Given the description of an element on the screen output the (x, y) to click on. 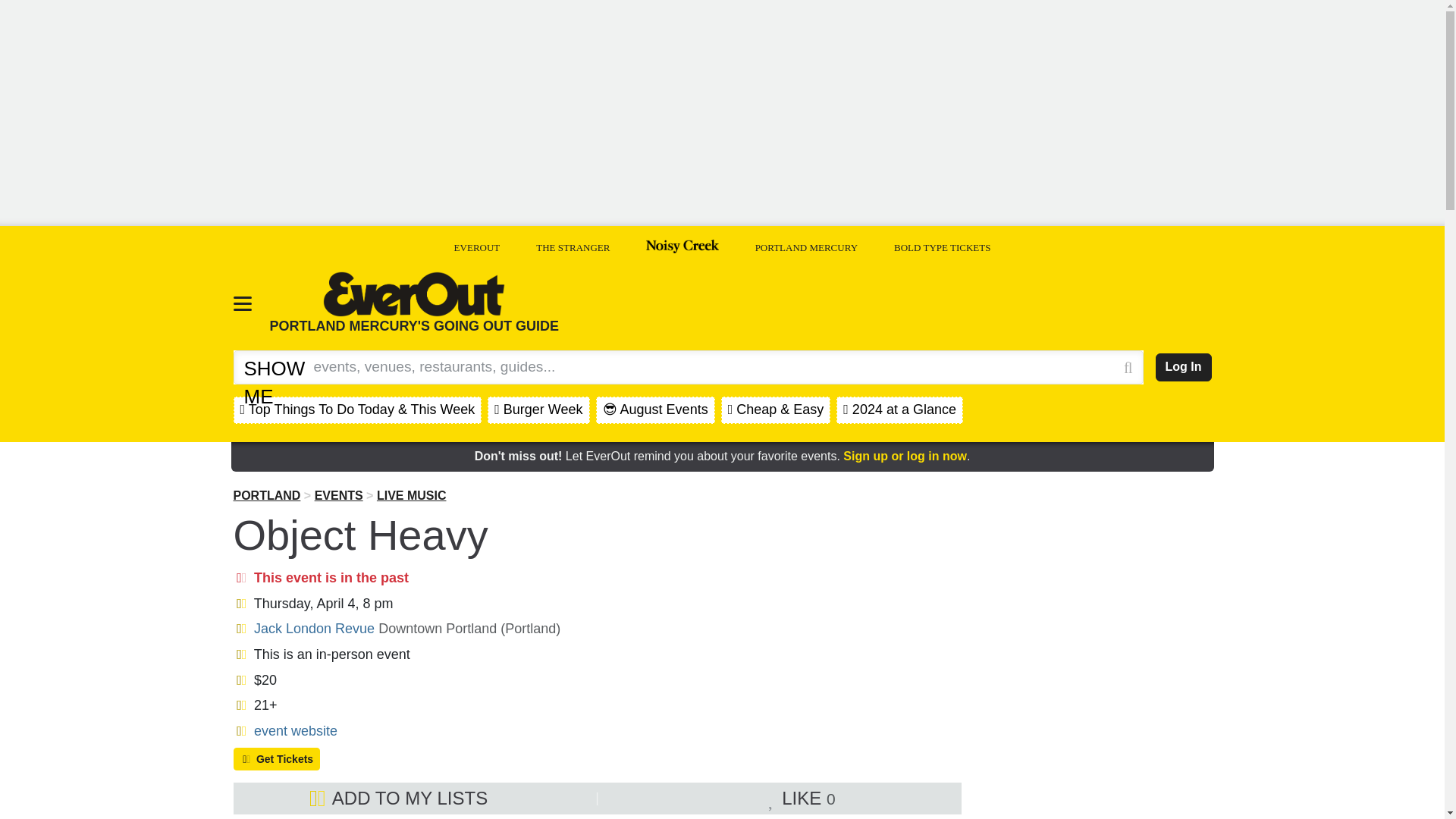
PORTLAND (266, 495)
PORTLAND MERCURY (806, 247)
THE STRANGER (572, 247)
LIVE MUSIC (411, 495)
Log In (1183, 366)
Get Tickets (276, 758)
BOLD TYPE TICKETS (941, 247)
EVENTS (338, 495)
Jack London Revue (313, 628)
EVEROUT (477, 247)
